Given the description of an element on the screen output the (x, y) to click on. 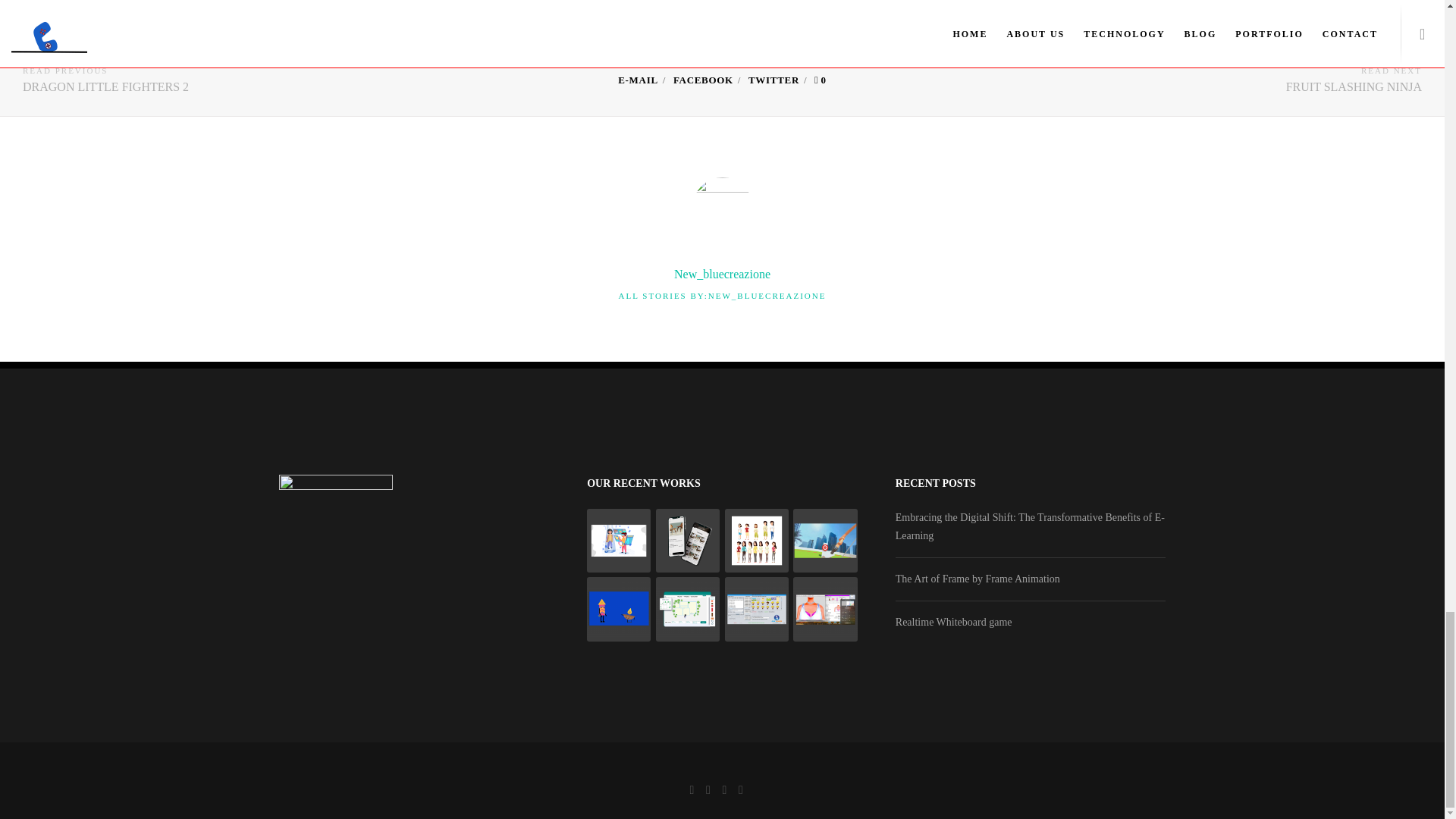
TWITTER (773, 79)
FACEBOOK (702, 79)
0 (820, 79)
Dragon Kombat (702, 79)
Dragon Kombat (773, 79)
Dragon Kombat (637, 79)
E-MAIL (637, 79)
